Given the description of an element on the screen output the (x, y) to click on. 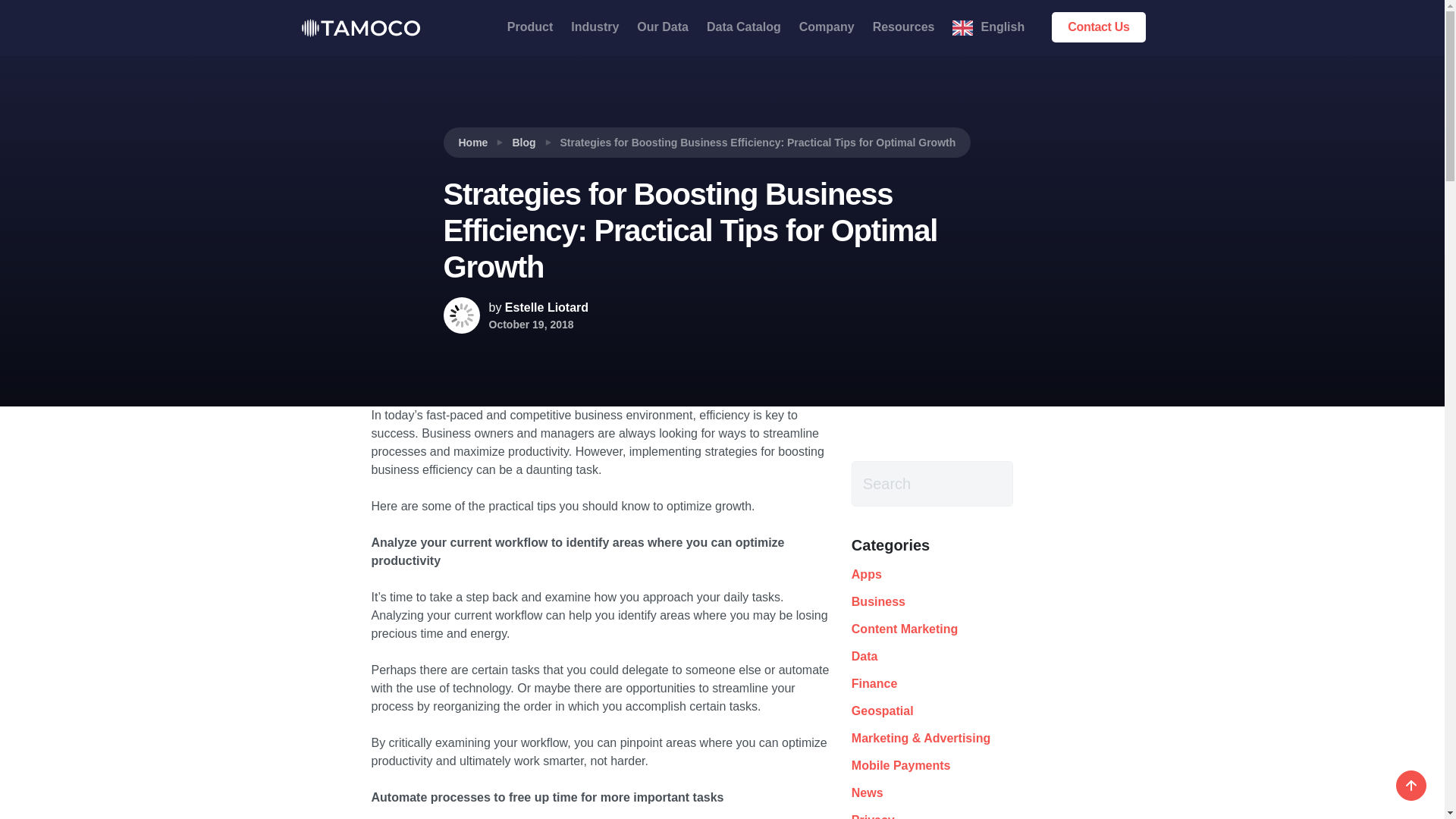
Estelle Liotard (546, 307)
Home (472, 142)
Contact Us (1097, 27)
English (988, 27)
Product (529, 27)
Blog (523, 142)
Our Data (662, 27)
Data Catalog (743, 27)
Company (826, 27)
Resources (903, 27)
